Given the description of an element on the screen output the (x, y) to click on. 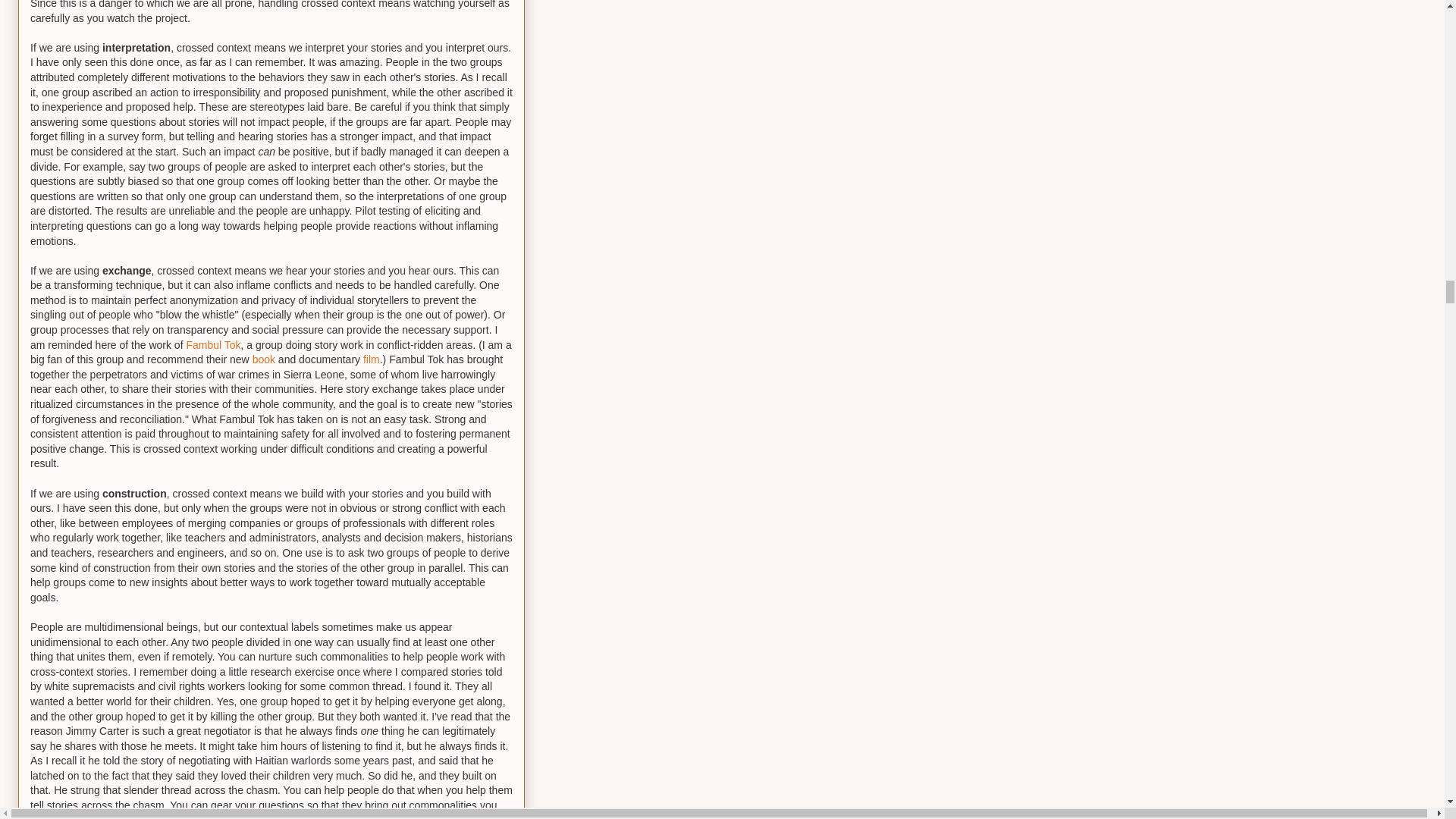
Fambul Tok (213, 345)
book (263, 358)
film (371, 358)
